Given the description of an element on the screen output the (x, y) to click on. 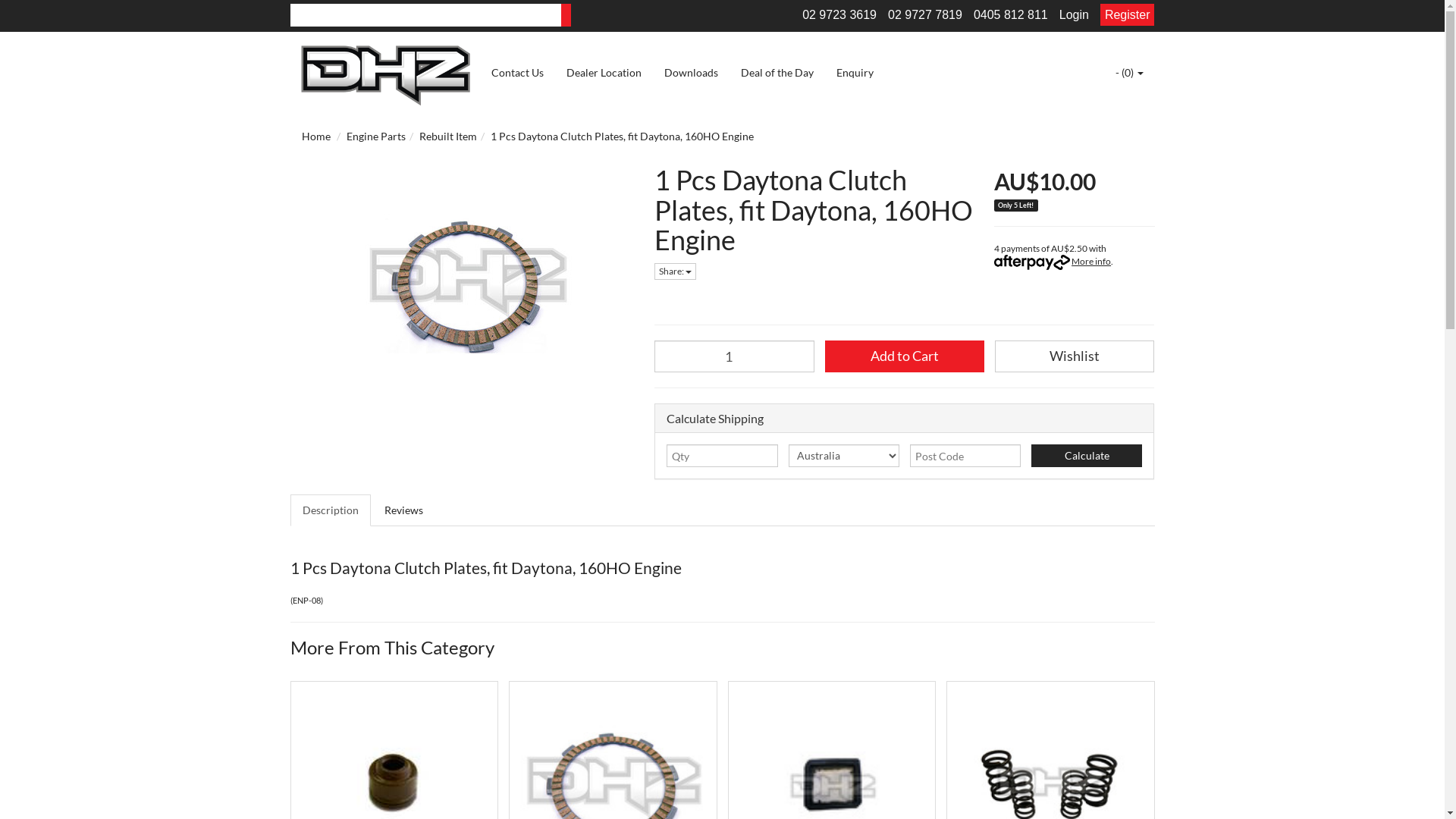
Login Element type: text (1073, 14)
Engine Parts Element type: text (374, 135)
Wishlist Element type: text (1074, 356)
1 Pcs Daytona Clutch Plates, fit Daytona, 160HO Engine Element type: text (621, 135)
Share: Element type: text (675, 271)
Calculate Element type: text (1086, 455)
More info Element type: text (1052, 260)
Dealer Location Element type: text (603, 72)
Register Element type: text (1127, 14)
Rebuilt Item Element type: text (447, 135)
Contact Us Element type: text (516, 72)
Downloads Element type: text (690, 72)
02 9727 7819 Element type: text (925, 14)
Reviews Element type: text (402, 510)
Home Element type: text (315, 135)
02 9723 3619 Element type: text (839, 14)
Enquiry Element type: text (854, 72)
0405 812 811 Element type: text (1010, 14)
- (0) Element type: text (1129, 72)
Search Element type: text (565, 14)
Description Element type: text (329, 510)
Add to Cart Element type: text (904, 356)
Deal of the Day Element type: text (777, 72)
